Given the description of an element on the screen output the (x, y) to click on. 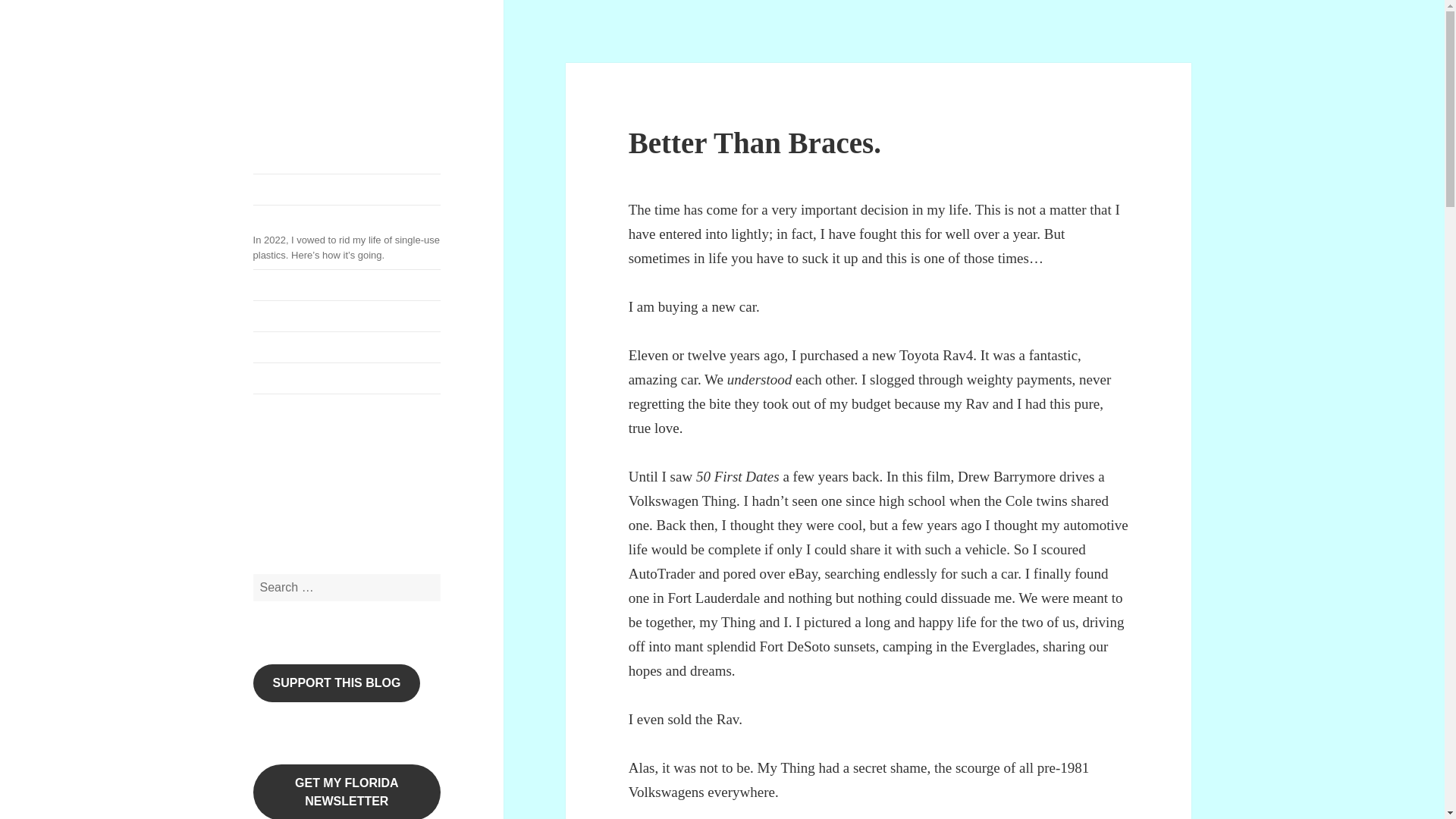
SUPPORT THIS BLOG (336, 682)
Cathy Salustri casual photography (383, 475)
Cathy Salustri casual photography (347, 316)
The Plastic Project (307, 475)
The Plastic Project (307, 475)
Dreams Float (347, 316)
Cathy Salustri, Florida writer (421, 475)
Cathy Salustri (322, 74)
